Given the description of an element on the screen output the (x, y) to click on. 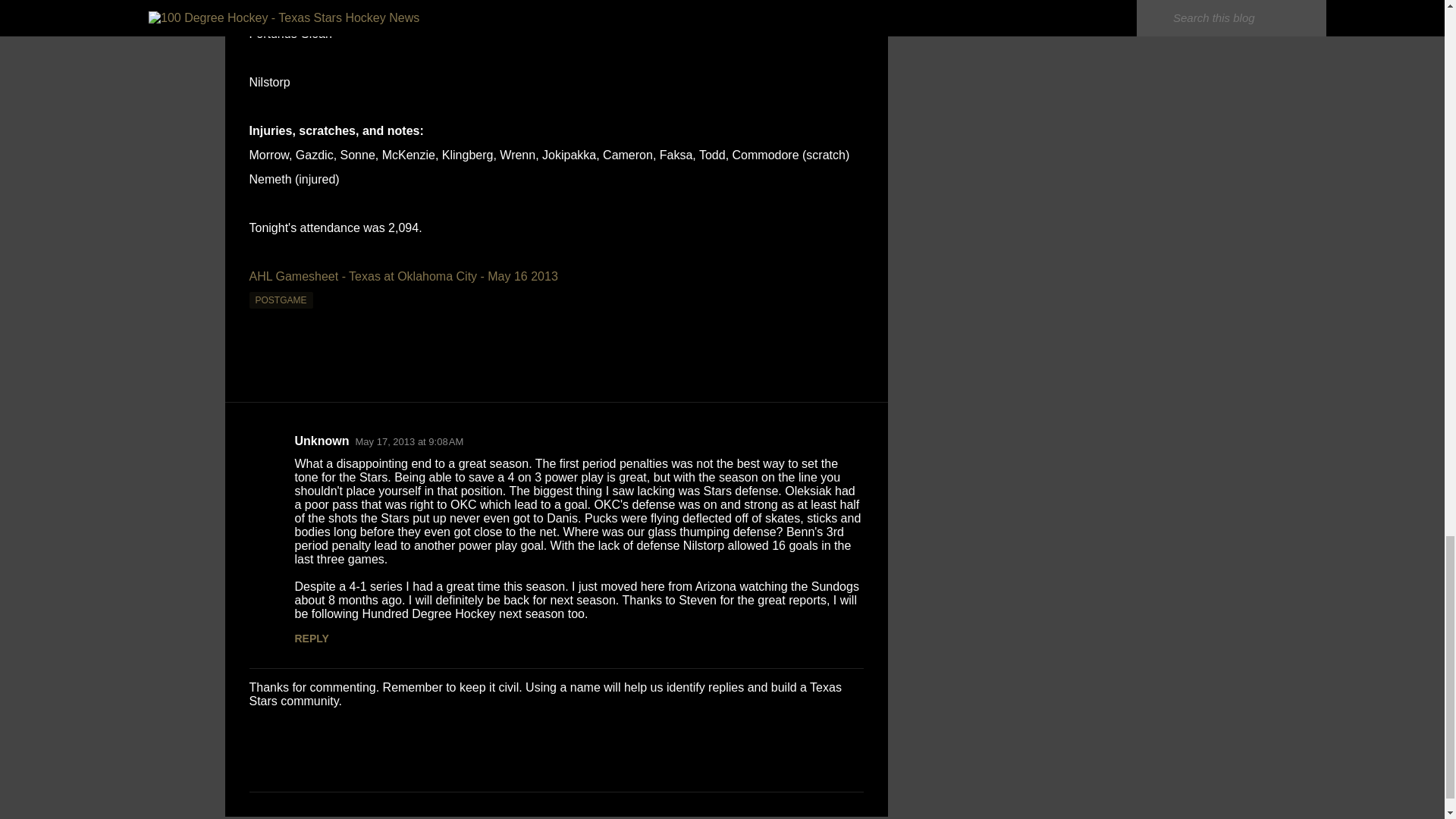
REPLY (311, 638)
AHL Gamesheet - Texas at Oklahoma City - May 16 2013 (402, 276)
Unknown (321, 440)
POSTGAME (280, 299)
